Given the description of an element on the screen output the (x, y) to click on. 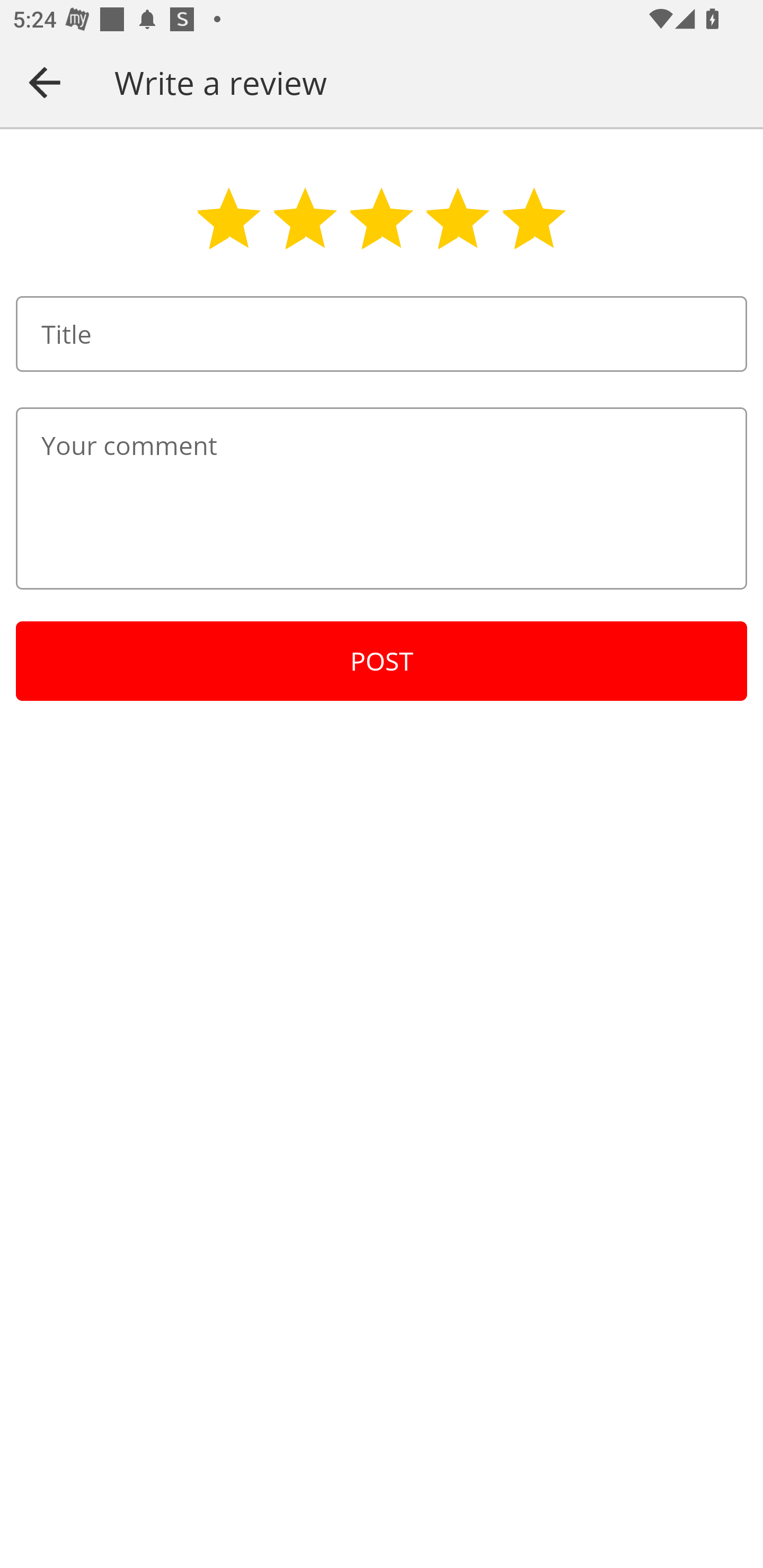
Navigate up (44, 82)
Title (381, 333)
Your comment (381, 498)
POST (381, 660)
